Given the description of an element on the screen output the (x, y) to click on. 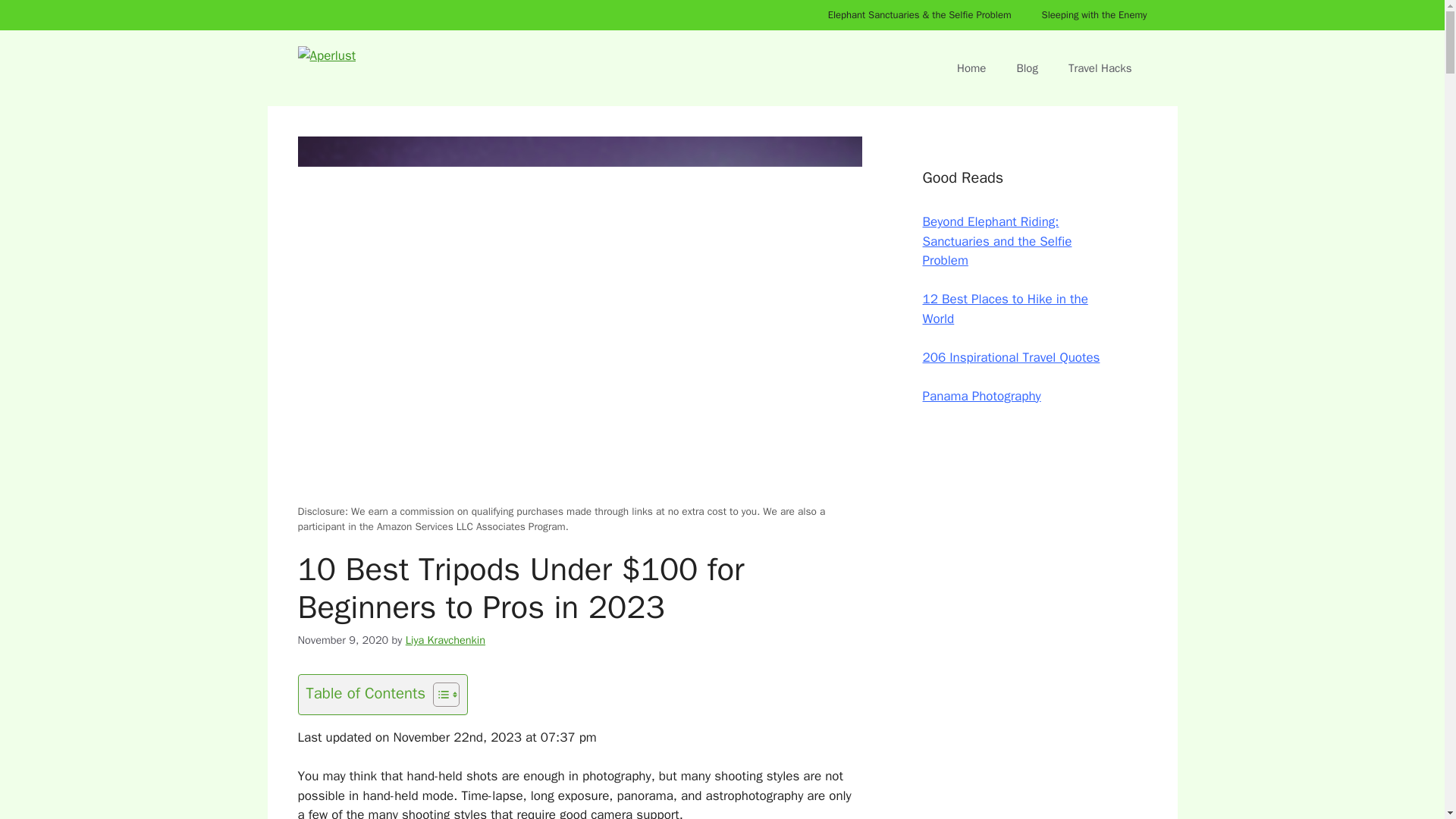
Sleeping with the Enemy (1093, 15)
Liya Kravchenkin (445, 640)
Blog (1026, 67)
View all posts by Liya Kravchenkin (445, 640)
Home (971, 67)
Travel Hacks (1099, 67)
